Given the description of an element on the screen output the (x, y) to click on. 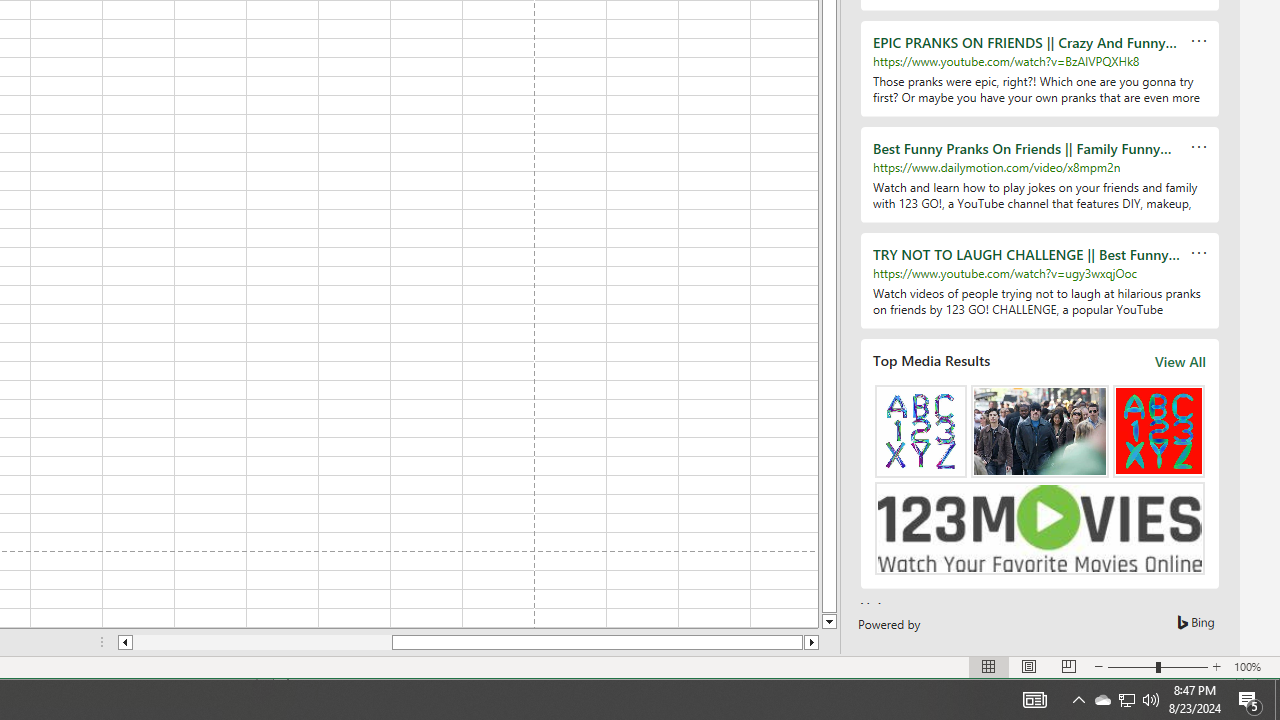
Q2790: 100% (1151, 699)
